Given the description of an element on the screen output the (x, y) to click on. 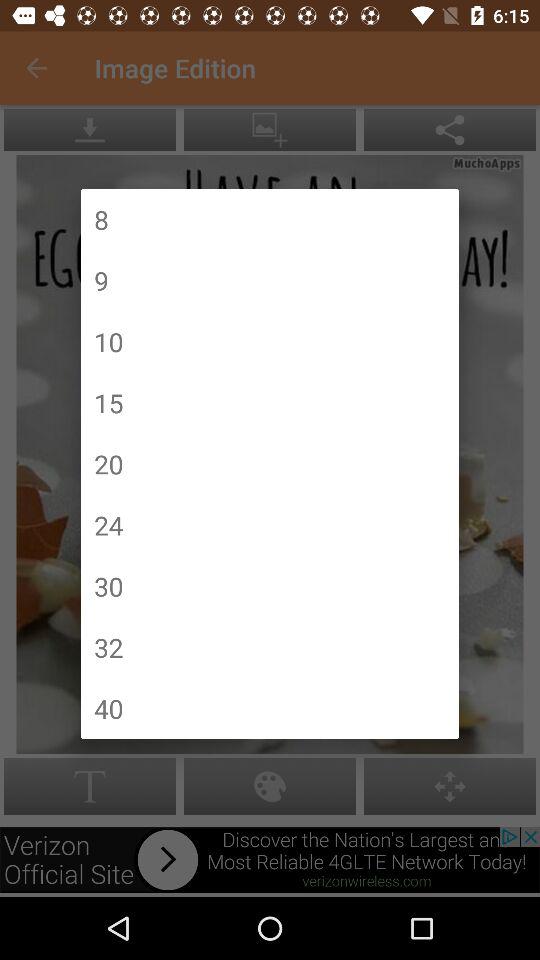
scroll until 40 (108, 708)
